Given the description of an element on the screen output the (x, y) to click on. 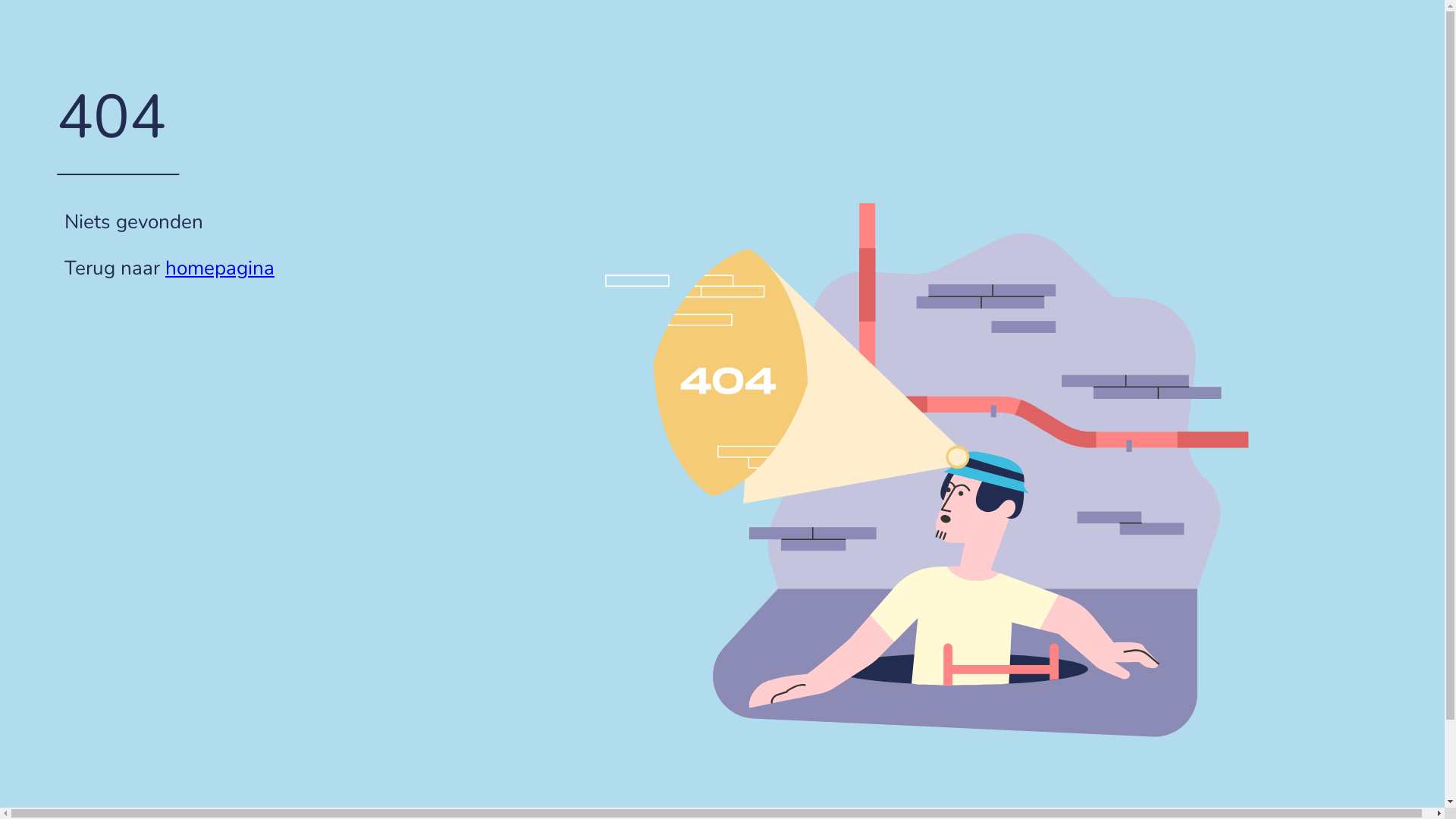
homepagina Element type: text (219, 267)
